Given the description of an element on the screen output the (x, y) to click on. 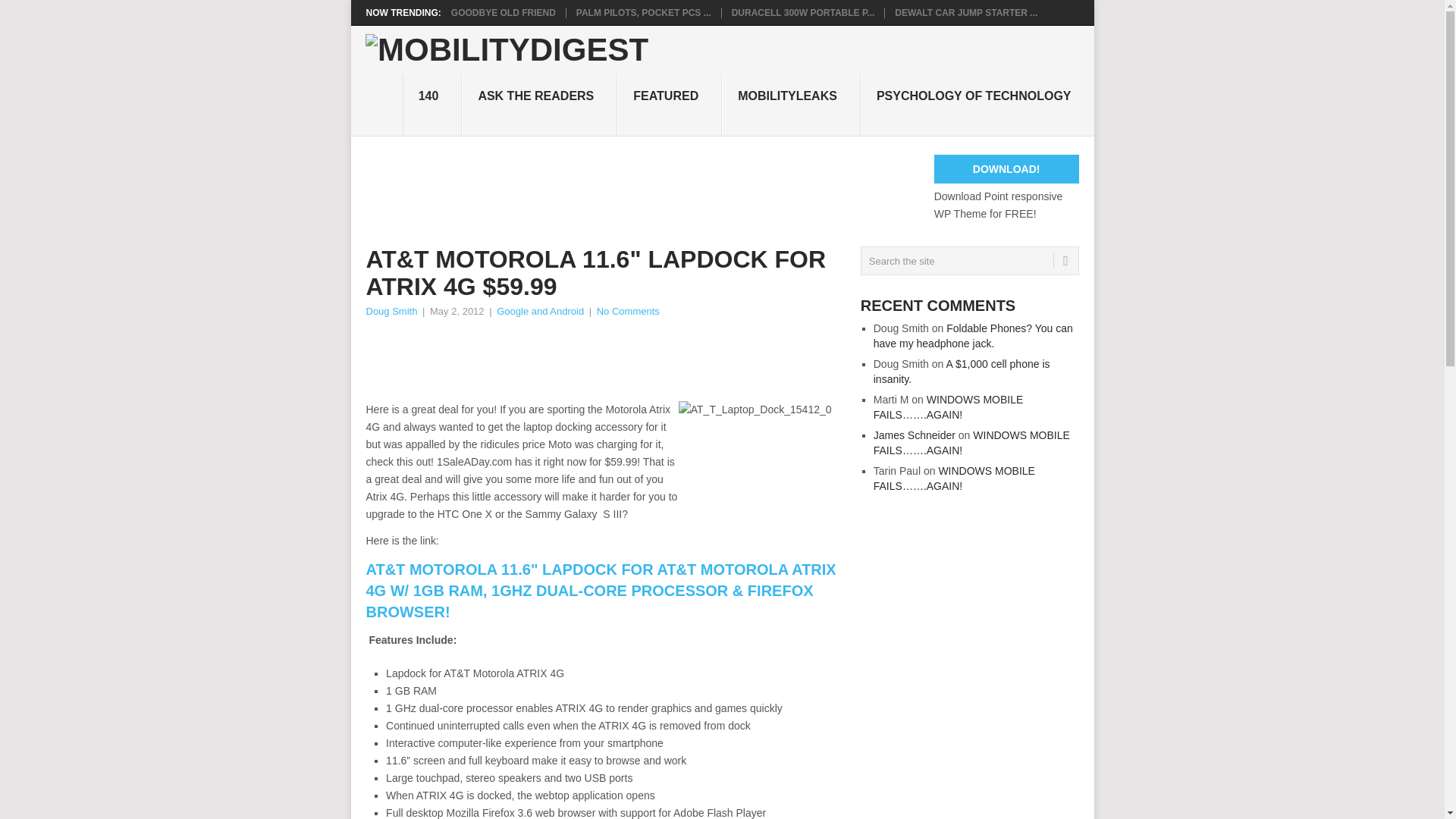
FEATURED (669, 105)
DURACELL 300W PORTABLE P... (803, 12)
DEWALT CAR JUMP STARTER ... (965, 12)
PALM PILOTS, POCKET PCS ... (643, 12)
GOODBYE OLD FRIEND (503, 12)
Goodbye Old Friend (503, 12)
Duracell 300w Portable Power Station Review (803, 12)
MOBILITYLEAKS (791, 105)
No Comments (627, 310)
Google and Android (539, 310)
